Given the description of an element on the screen output the (x, y) to click on. 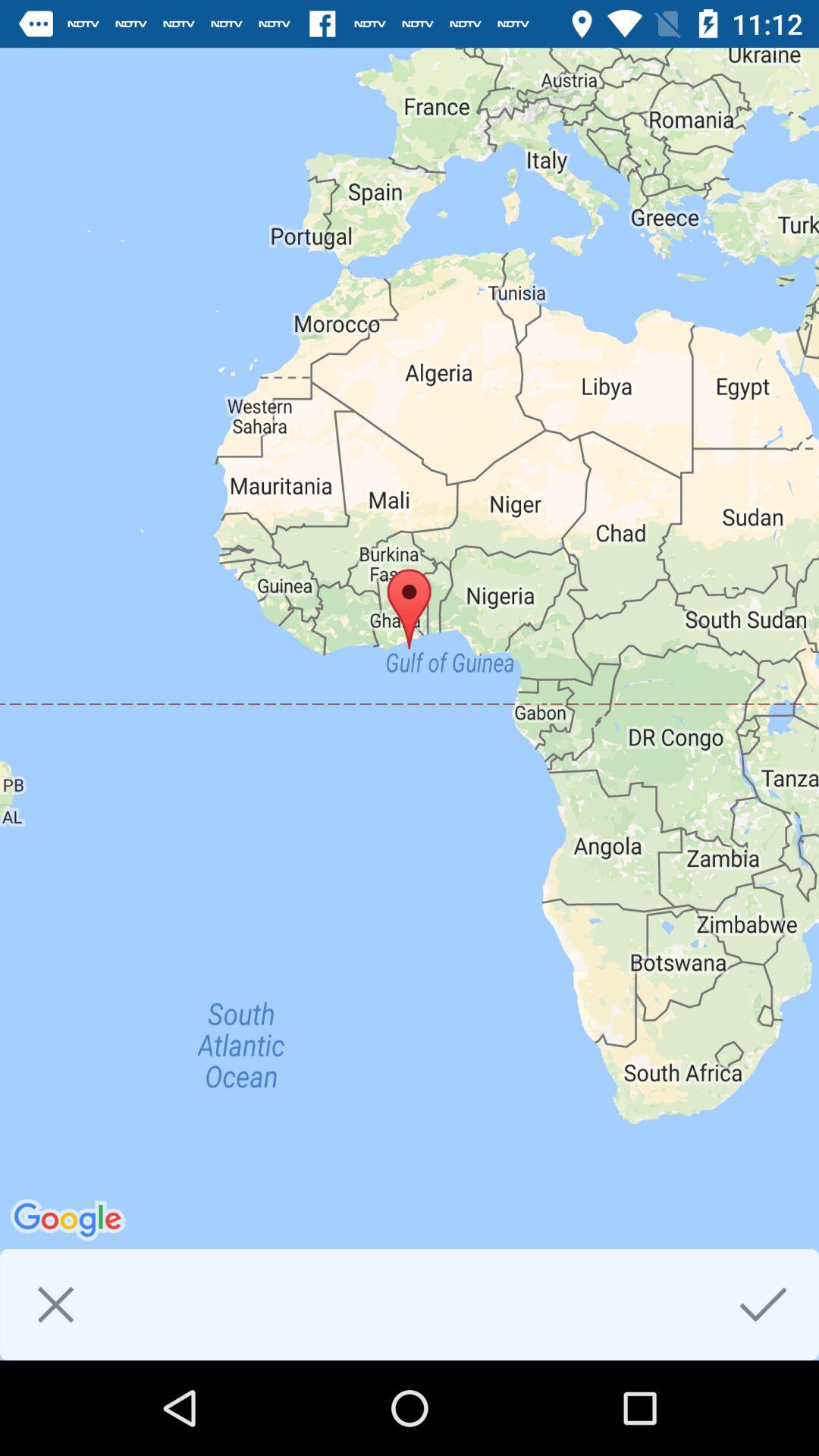
choose the icon at the bottom right corner (763, 1304)
